Given the description of an element on the screen output the (x, y) to click on. 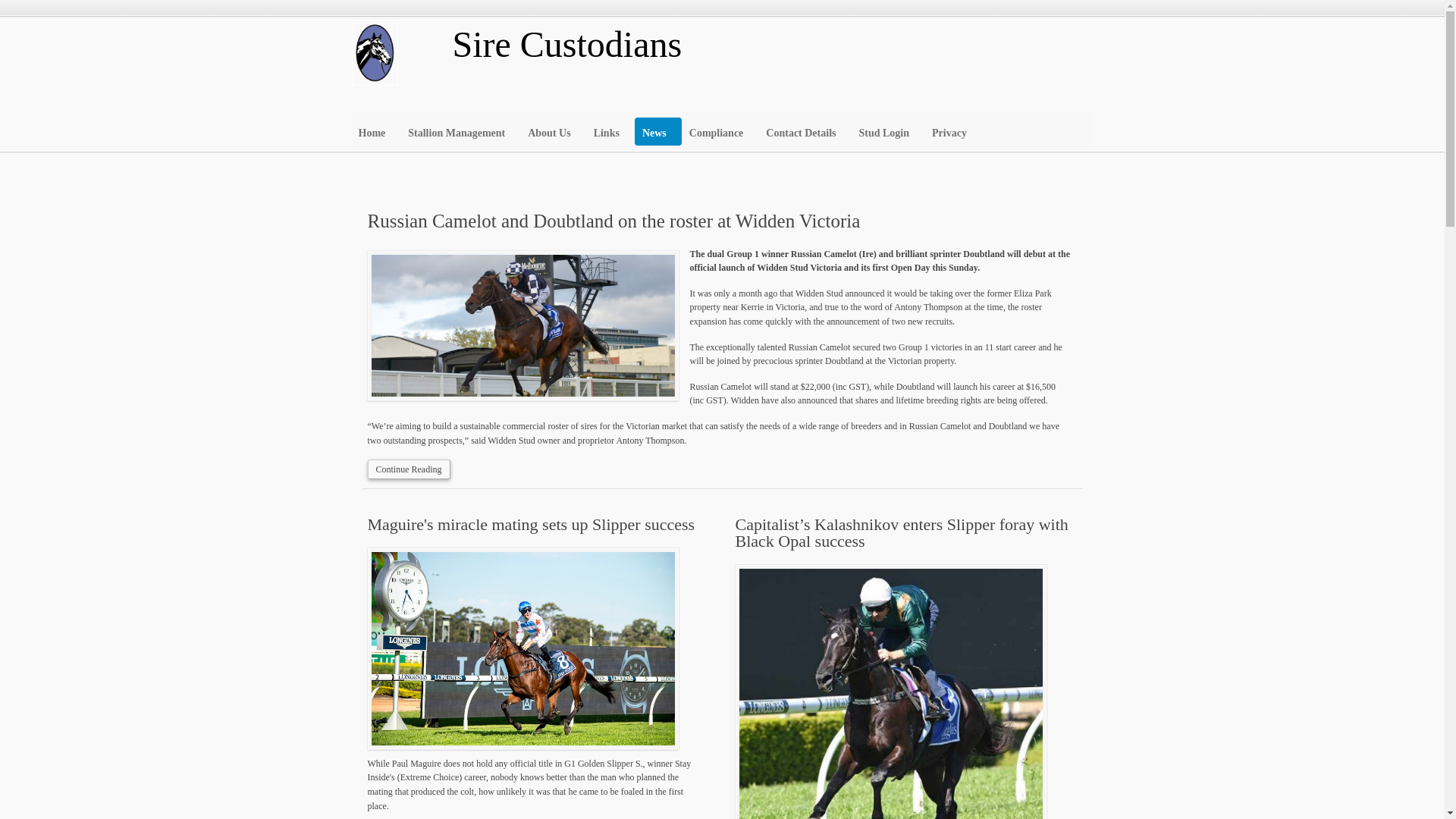
Privacy (952, 128)
News (657, 131)
Compliance (719, 128)
Stallion Management (459, 128)
Home (375, 128)
Contact Details (804, 128)
Stud Login (887, 128)
About Us (552, 128)
Continue Reading (407, 469)
